Given the description of an element on the screen output the (x, y) to click on. 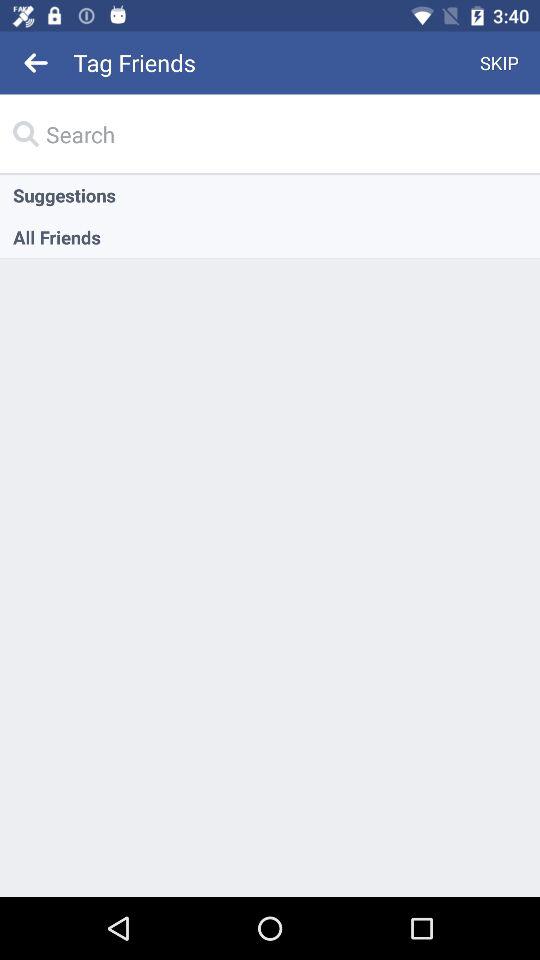
click item above search icon (36, 62)
